Given the description of an element on the screen output the (x, y) to click on. 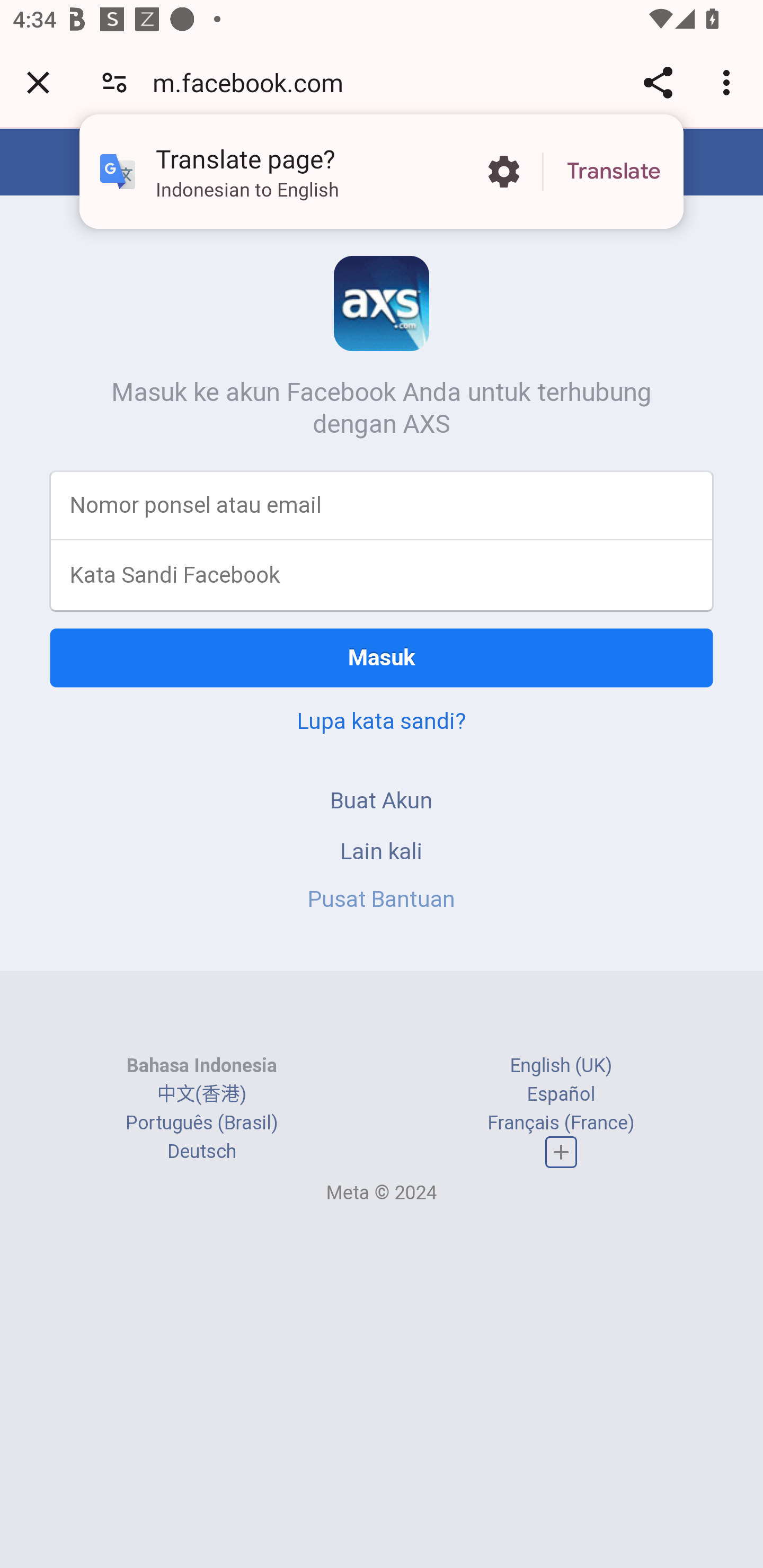
Close tab (38, 82)
Share (657, 82)
Customize and control Google Chrome (729, 82)
Connection is secure (114, 81)
m.facebook.com (254, 81)
Translate (613, 171)
More options in the Translate page? (503, 171)
Masuk (381, 657)
Lupa kata sandi? (381, 720)
Buat Akun (381, 800)
Lain kali (381, 850)
Pusat Bantuan (381, 898)
English (UK) (560, 1065)
中文(香港) (201, 1093)
Español (560, 1093)
Português (Brasil) (201, 1122)
Français (France) (560, 1122)
Daftar bahasa lengkap (560, 1152)
Deutsch (201, 1151)
